Given the description of an element on the screen output the (x, y) to click on. 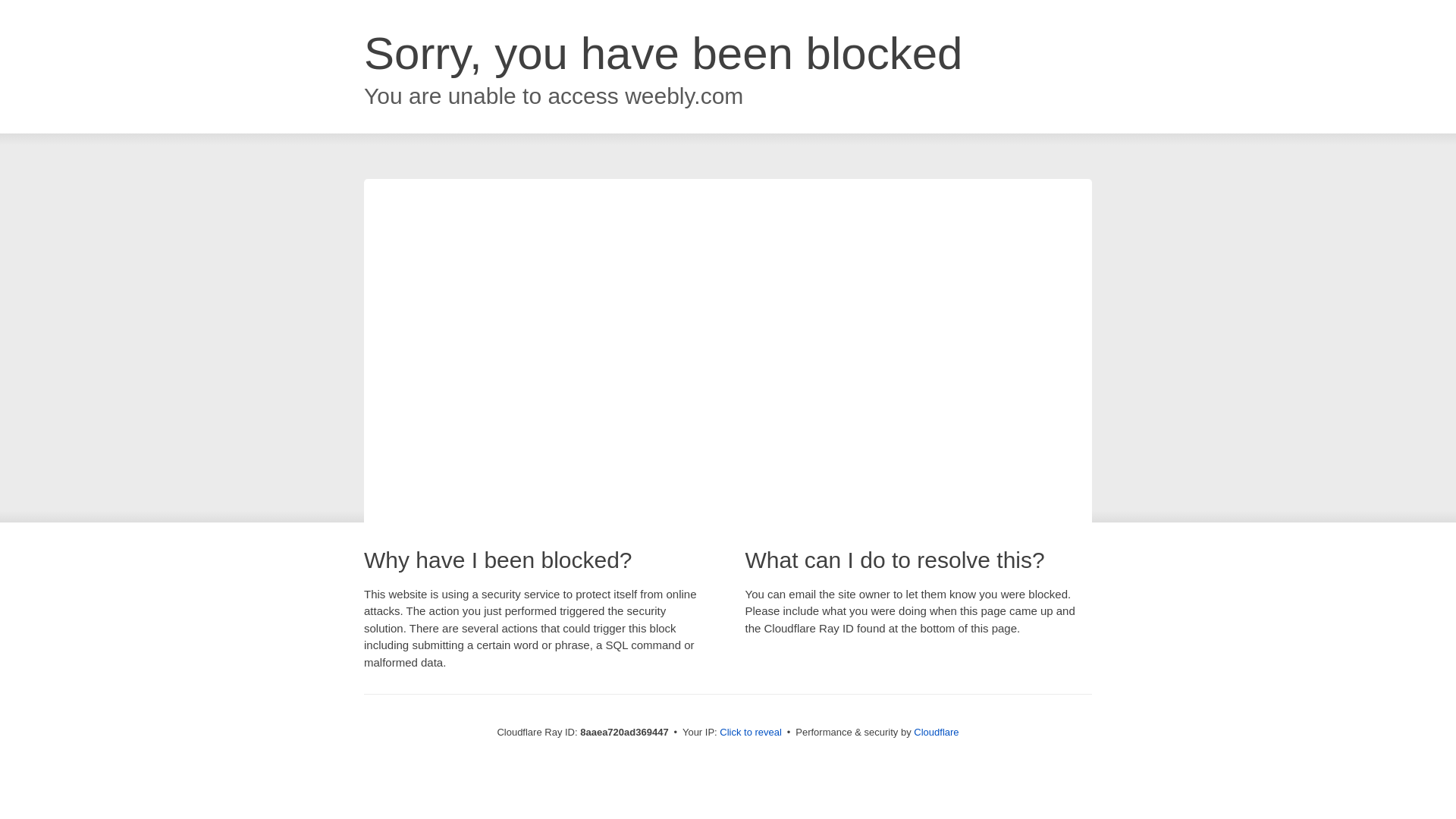
Cloudflare (936, 731)
Click to reveal (750, 732)
